Given the description of an element on the screen output the (x, y) to click on. 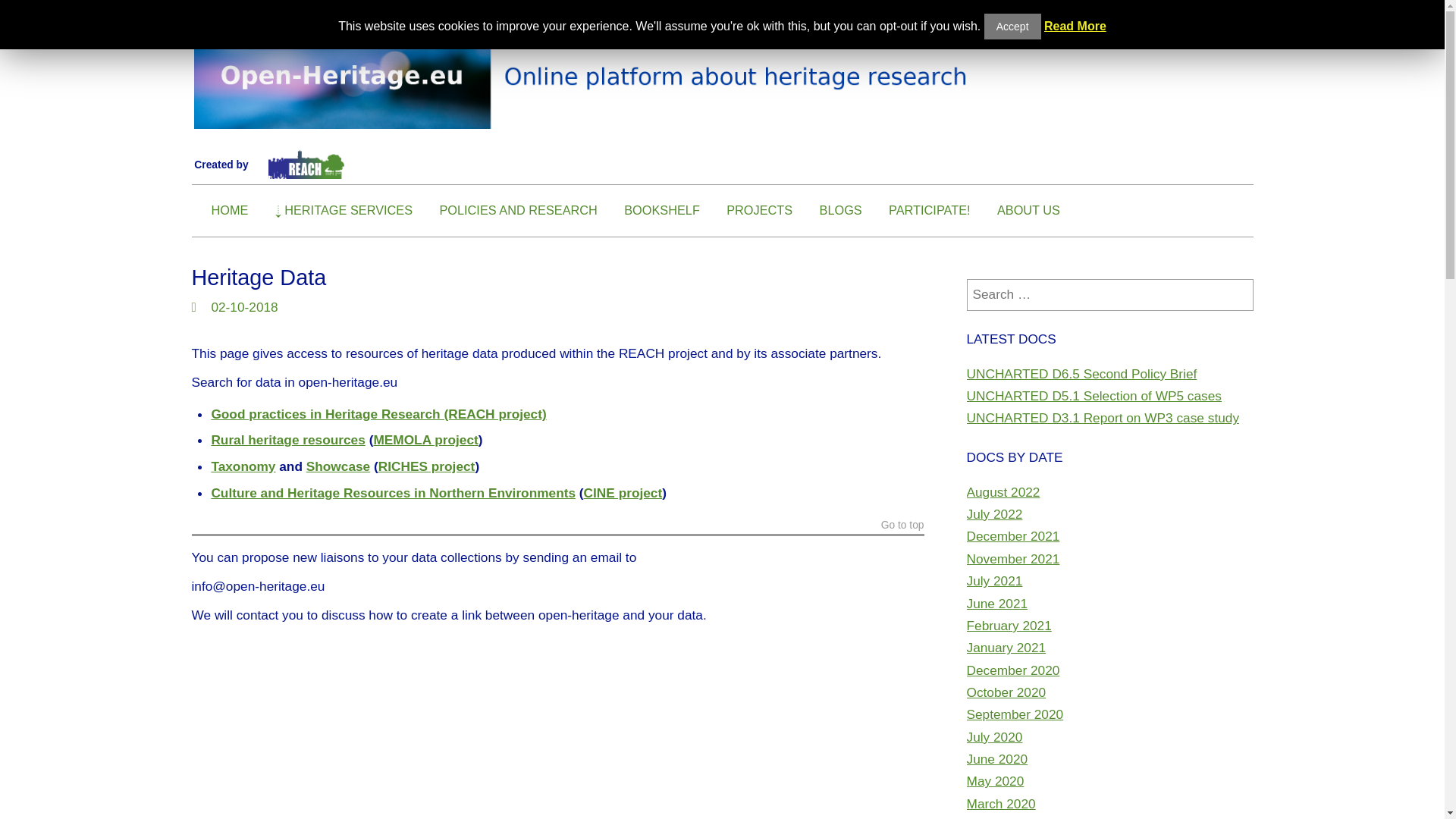
UNCHARTED D6.5 Second Policy Brief (1081, 373)
02-10-2018 (244, 306)
MEMOLA project (424, 439)
BLOGS (840, 210)
PROJECTS (759, 210)
PARTICIPATE! (929, 210)
POLICIES AND RESEARCH (517, 210)
November 2021 (1012, 558)
ABOUT US (1028, 210)
Taxonomy (243, 466)
July 2022 (994, 513)
BOOKSHELF (662, 210)
December 2021 (1012, 535)
Culture and Heritage Resources in Northern Environments (393, 492)
Go to top (902, 527)
